Given the description of an element on the screen output the (x, y) to click on. 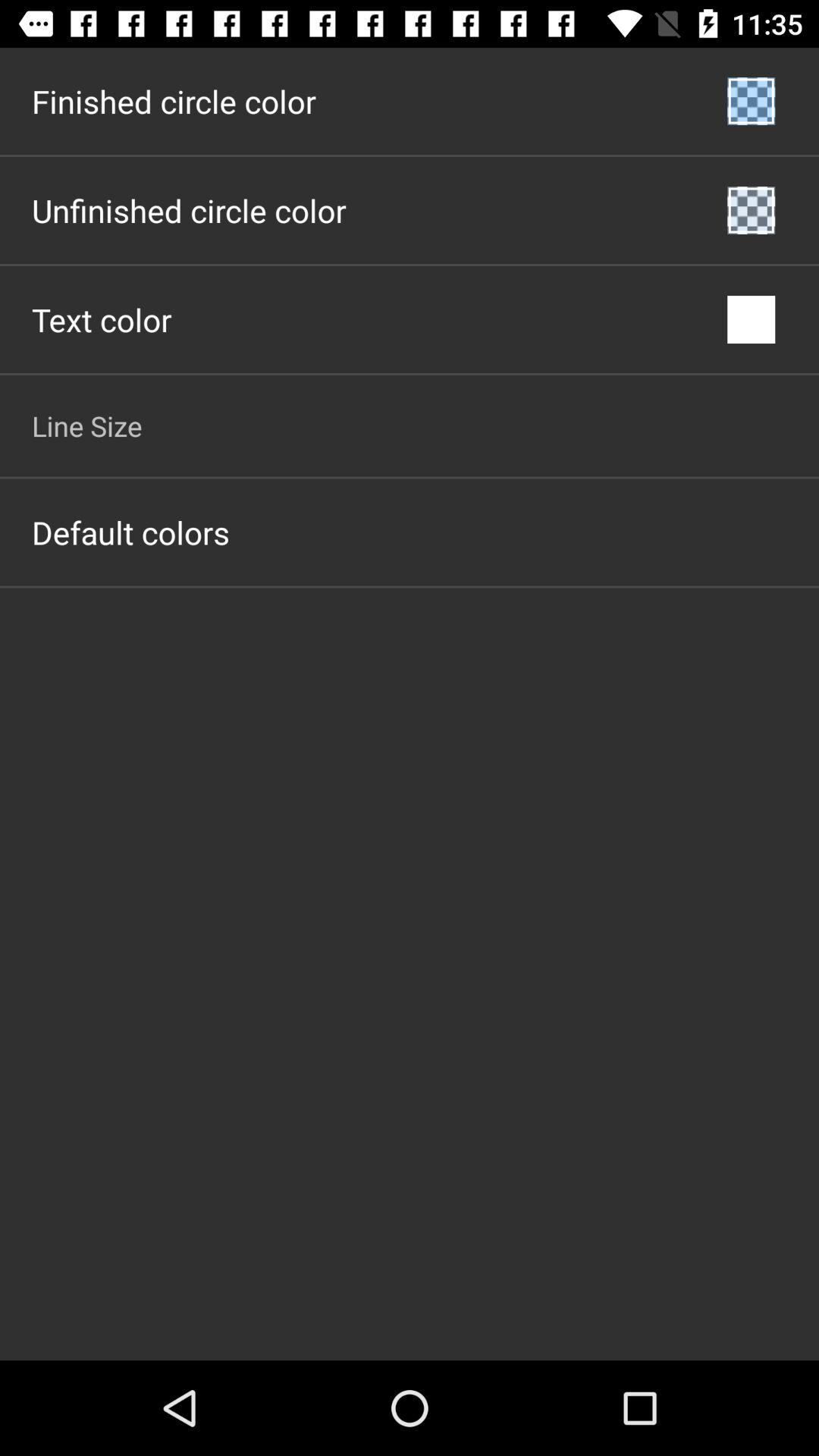
turn off icon above line size app (101, 319)
